Given the description of an element on the screen output the (x, y) to click on. 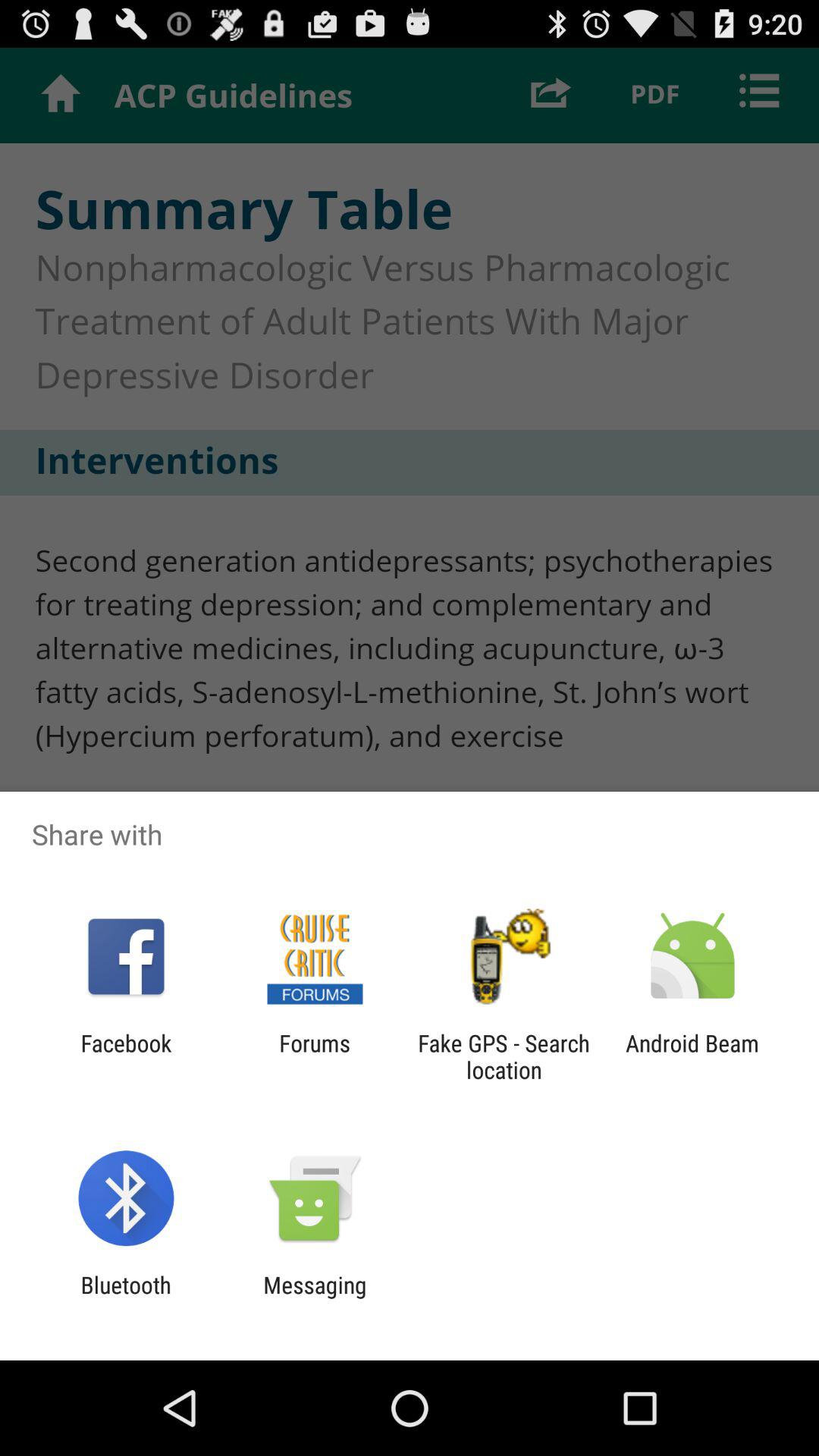
jump to facebook (125, 1056)
